Given the description of an element on the screen output the (x, y) to click on. 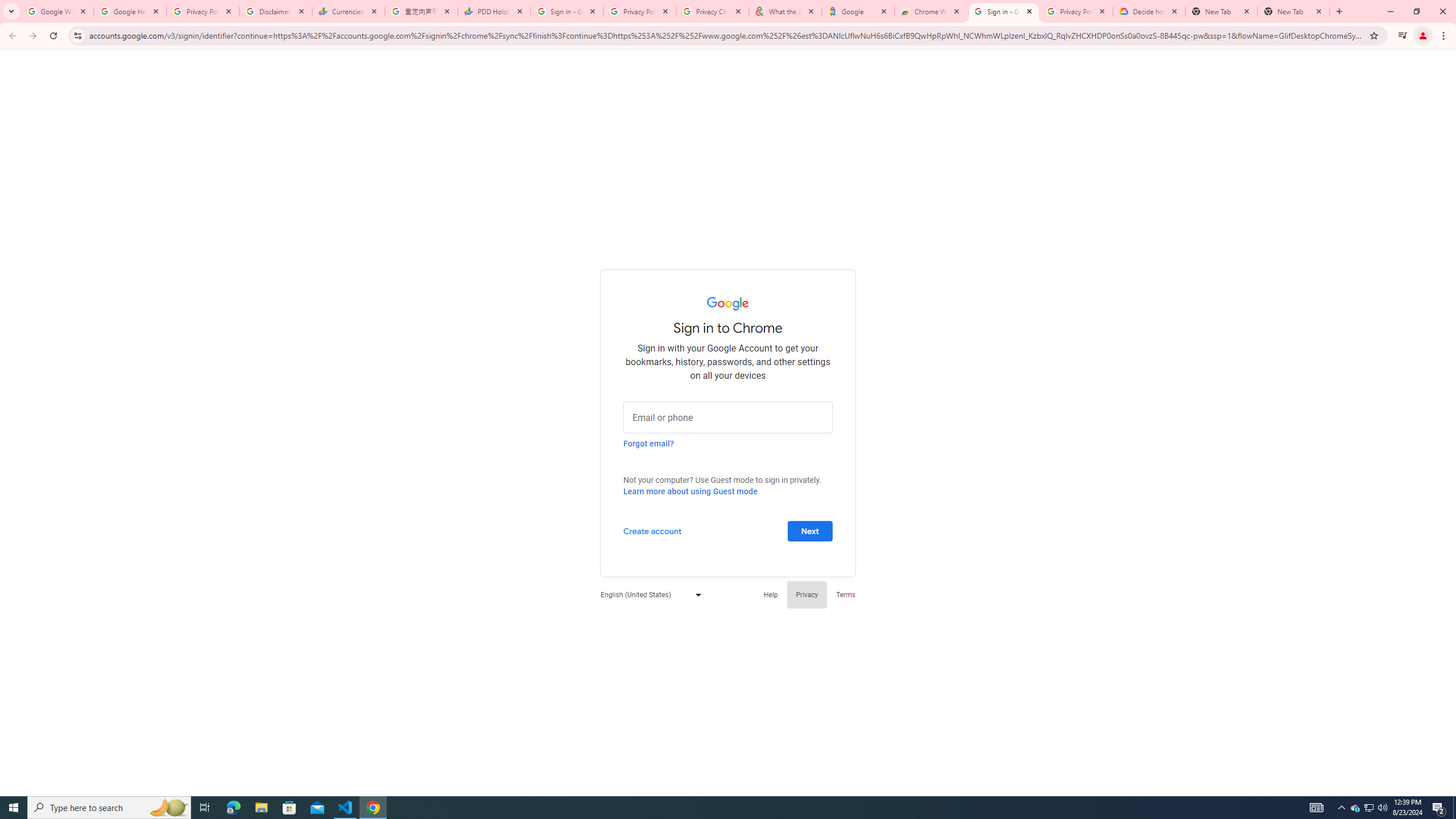
Privacy Checkup (712, 11)
Forgot email? (648, 443)
